Given the description of an element on the screen output the (x, y) to click on. 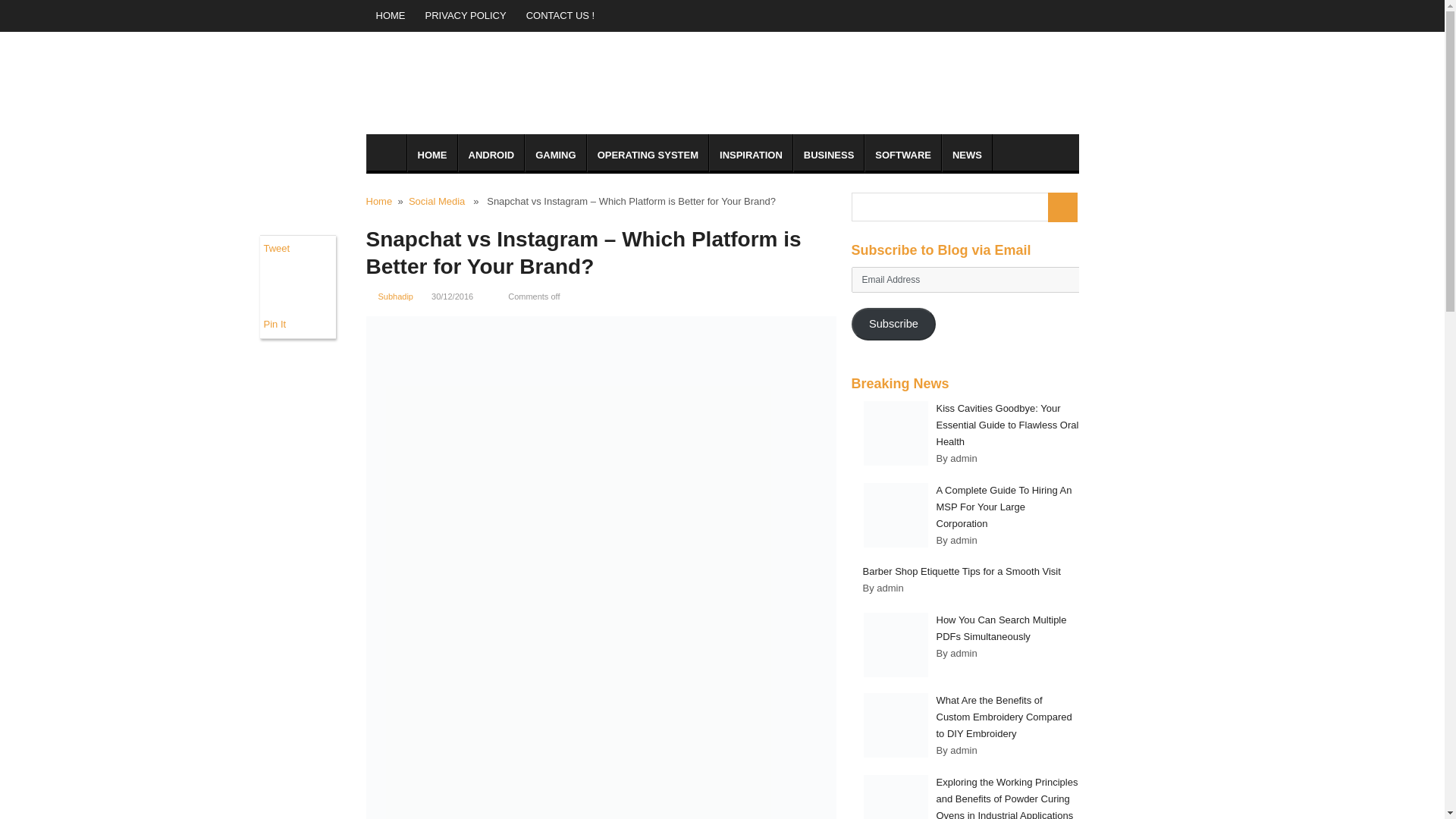
OPERATING SYSTEM (647, 153)
HOME (389, 15)
SOFTWARE (903, 153)
Social Media (436, 201)
Subhadip (395, 296)
Subscribe (893, 324)
INSPIRATION (751, 153)
Tweet (276, 247)
PRIVACY POLICY (465, 15)
